Given the description of an element on the screen output the (x, y) to click on. 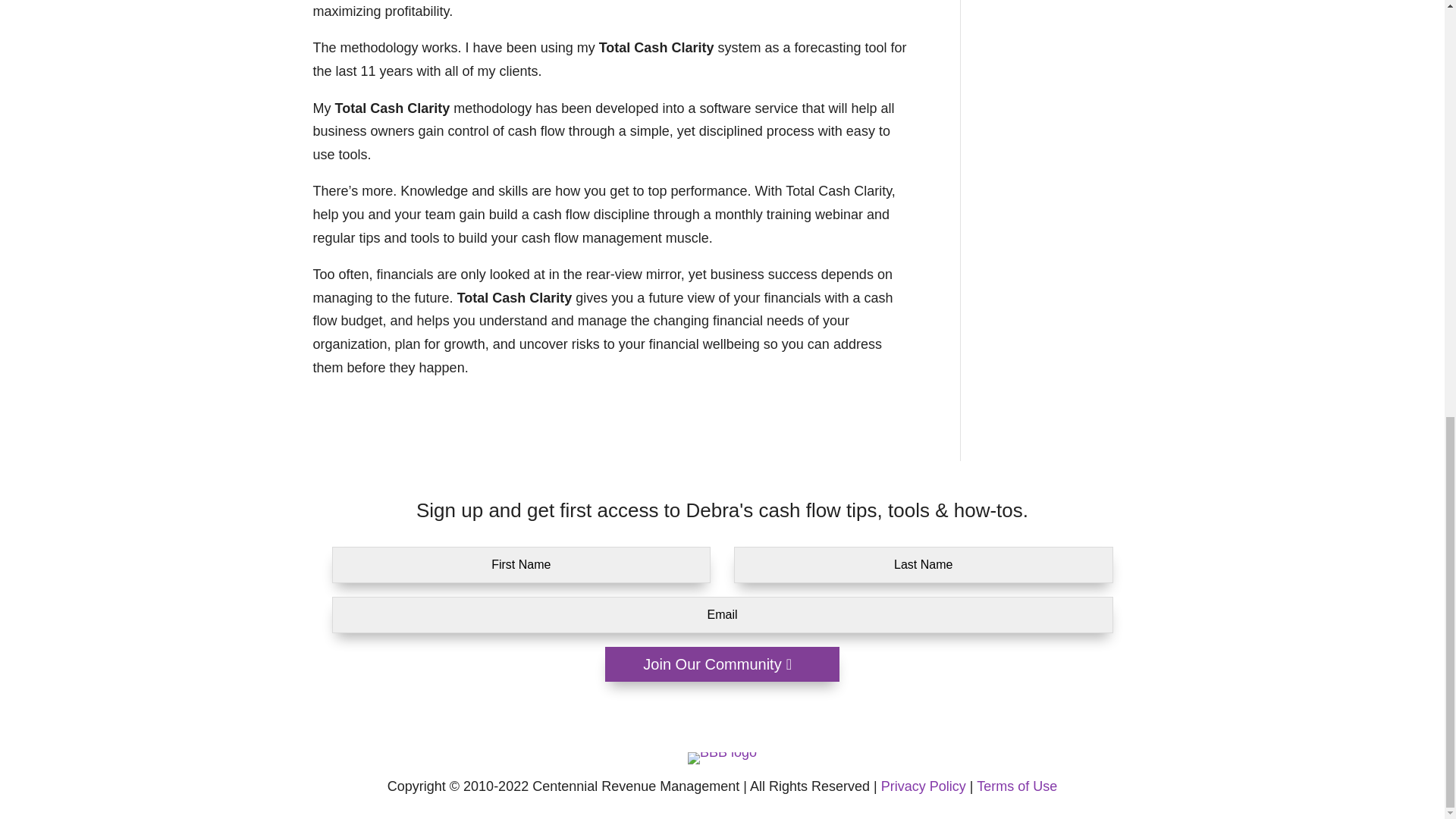
Terms of Use (1016, 785)
black-seal-96-50-centennialrevenuemanagementllc-90167722 (722, 758)
Privacy Policy (923, 785)
Join Our Community (722, 664)
